Given the description of an element on the screen output the (x, y) to click on. 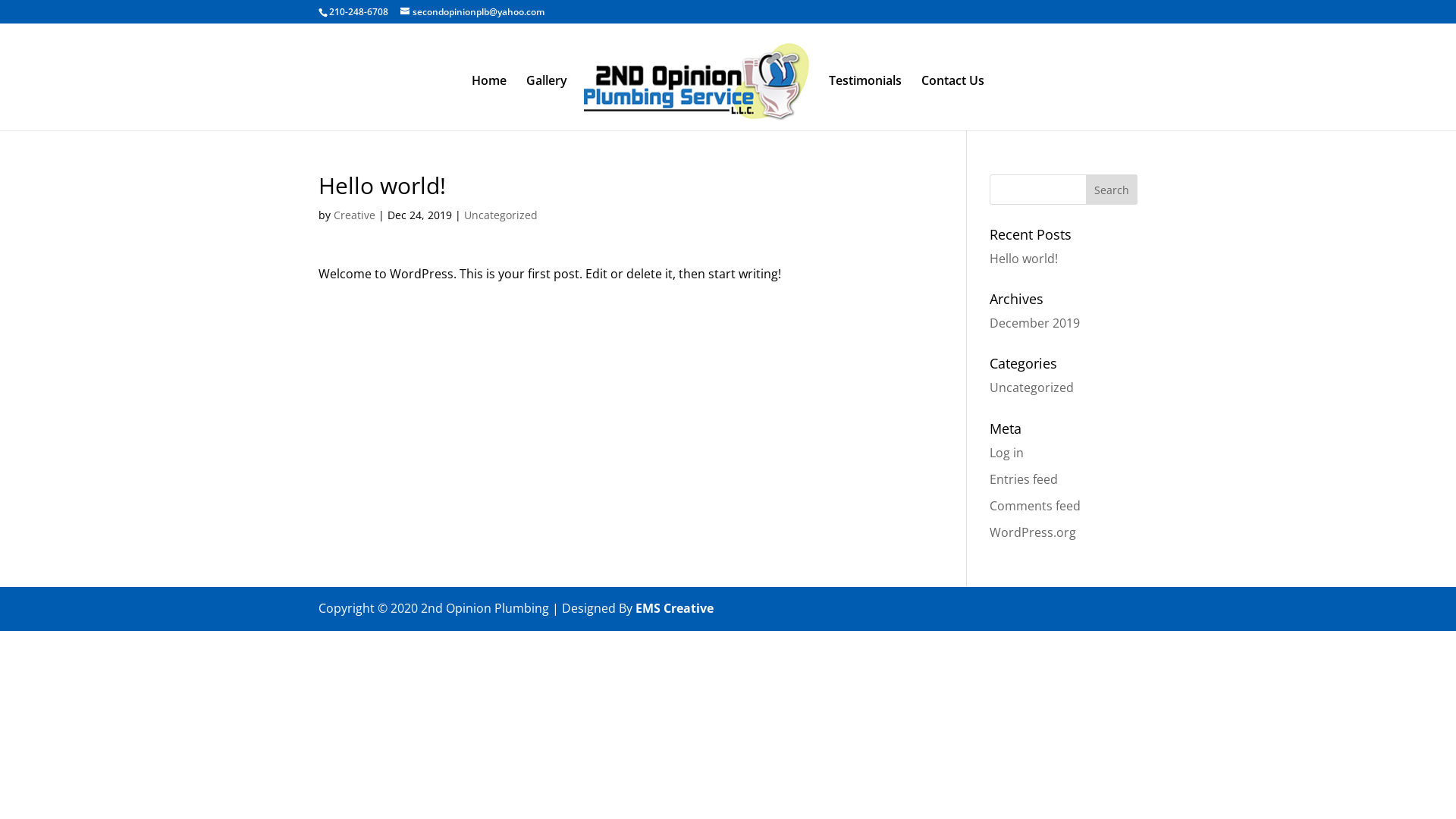
Uncategorized Element type: text (1031, 387)
WordPress.org Element type: text (1032, 532)
December 2019 Element type: text (1034, 322)
Testimonials Element type: text (864, 102)
Gallery Element type: text (546, 102)
Entries feed Element type: text (1023, 478)
Search Element type: text (1111, 189)
Contact Us Element type: text (952, 102)
Uncategorized Element type: text (500, 214)
Log in Element type: text (1006, 452)
Creative Element type: text (354, 214)
secondopinionplb@yahoo.com Element type: text (472, 11)
Hello world! Element type: text (1023, 258)
Comments feed Element type: text (1034, 505)
EMS Creative Element type: text (674, 607)
Home Element type: text (488, 102)
